Given the description of an element on the screen output the (x, y) to click on. 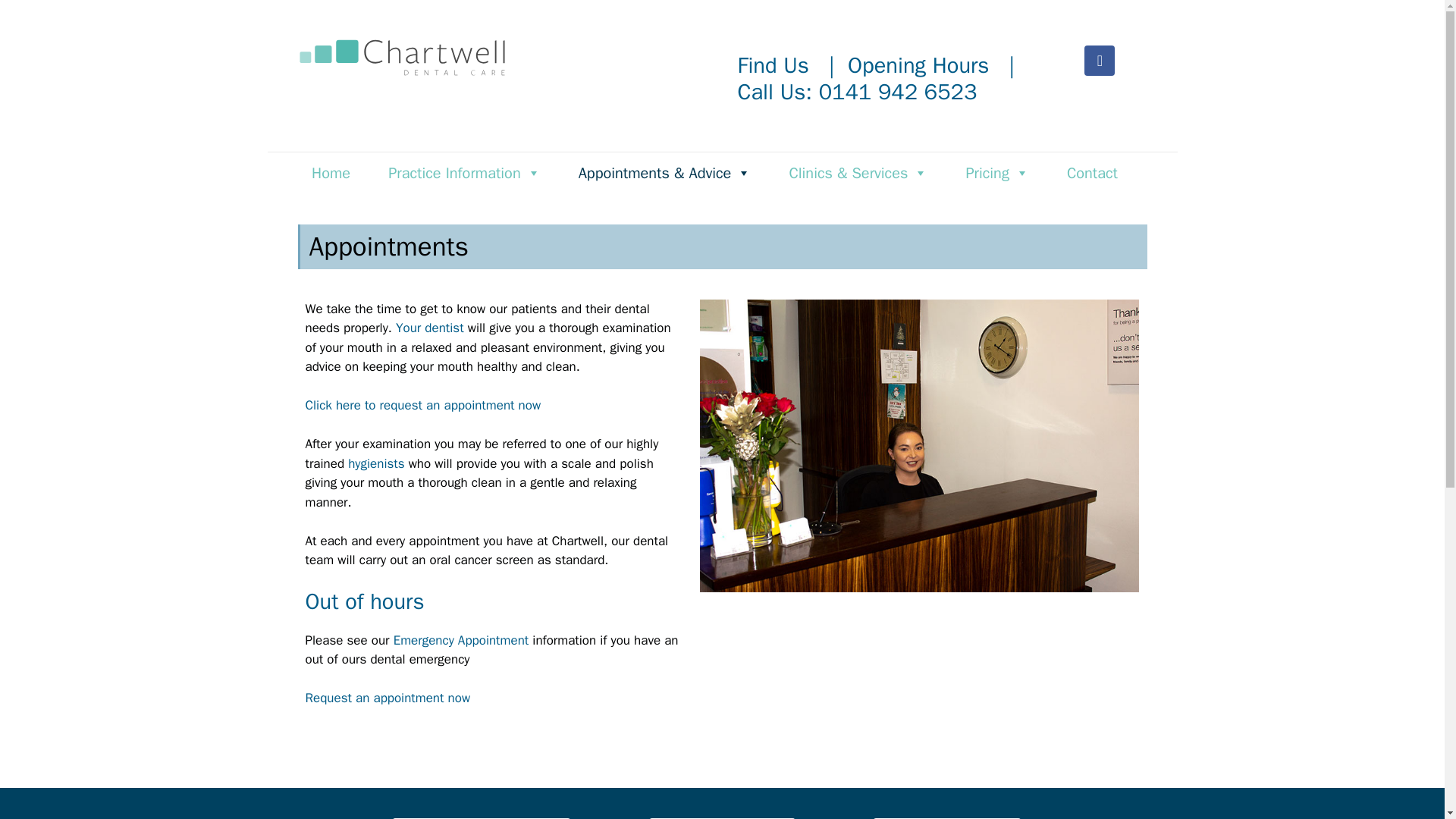
 Opening Hours (914, 65)
Find Us (772, 65)
Practice Information (464, 172)
0141 942 6523 (897, 91)
Home (331, 172)
